Given the description of an element on the screen output the (x, y) to click on. 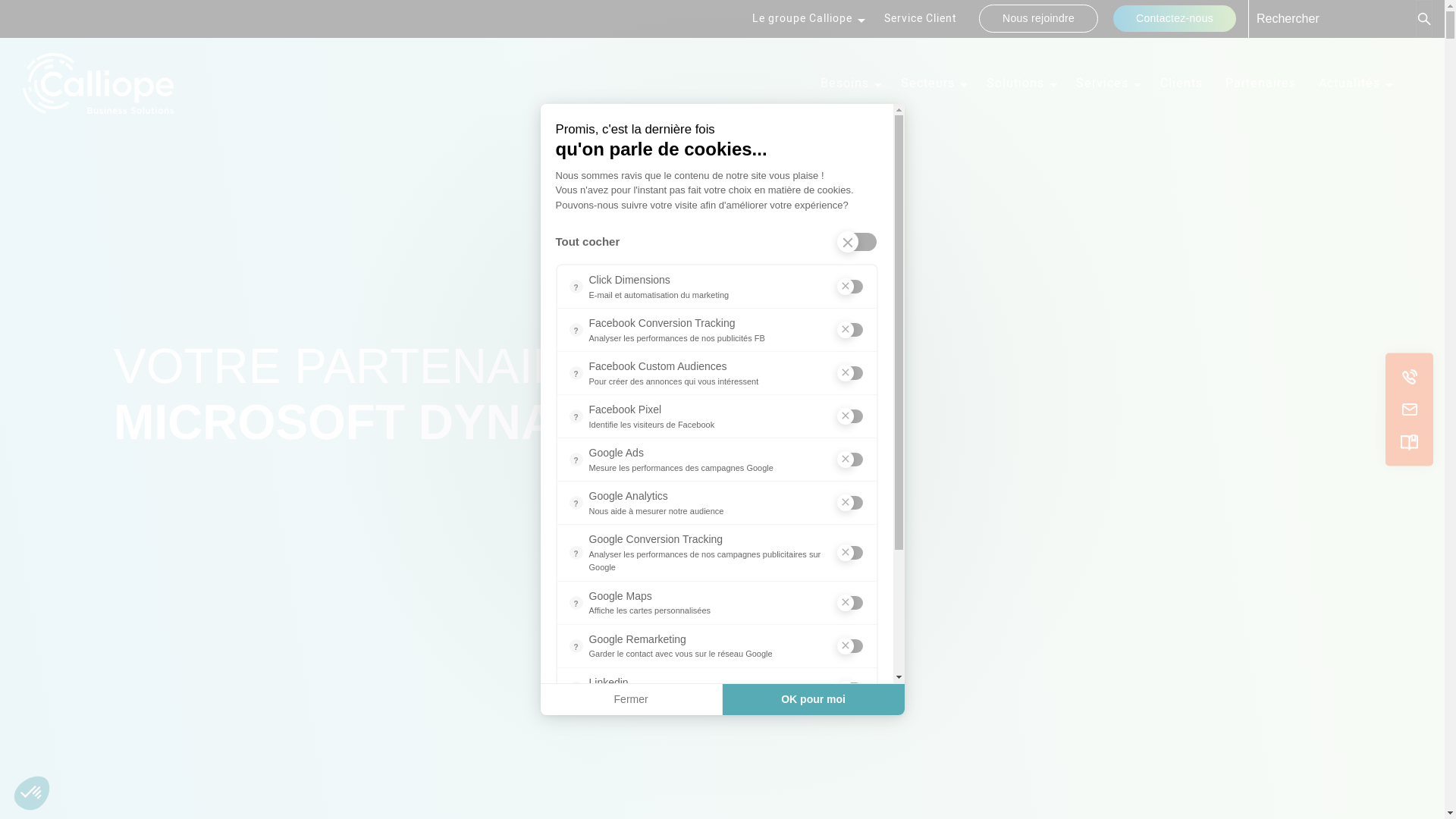
Secteurs Element type: text (932, 83)
Fermer Element type: text (630, 699)
Nous contacter Element type: hover (1409, 408)
Solutions Element type: text (1019, 83)
? Element type: text (575, 459)
? Element type: text (575, 502)
Le groupe Calliope Element type: text (806, 18)
? Element type: text (575, 329)
? Element type: text (575, 372)
Search Element type: text (1423, 18)
? Element type: text (575, 731)
Partenaires Element type: text (1260, 83)
? Element type: text (575, 286)
OK pour moi Element type: text (813, 699)
Clients Element type: text (1181, 83)
Nous rejoindre Element type: text (1038, 18)
? Element type: text (575, 645)
Besoins Element type: text (849, 83)
MICROSOFT DYNAMICS 365 Element type: text (442, 422)
Newsletter Element type: hover (1409, 442)
? Element type: text (575, 602)
Service Client Element type: text (920, 18)
Contactez-nous Element type: text (1174, 18)
Services Element type: text (1106, 83)
? Element type: text (575, 552)
Groupe Calliope Element type: text (98, 83)
Rappel Element type: hover (1409, 376)
? Element type: text (575, 688)
? Element type: text (575, 416)
